Given the description of an element on the screen output the (x, y) to click on. 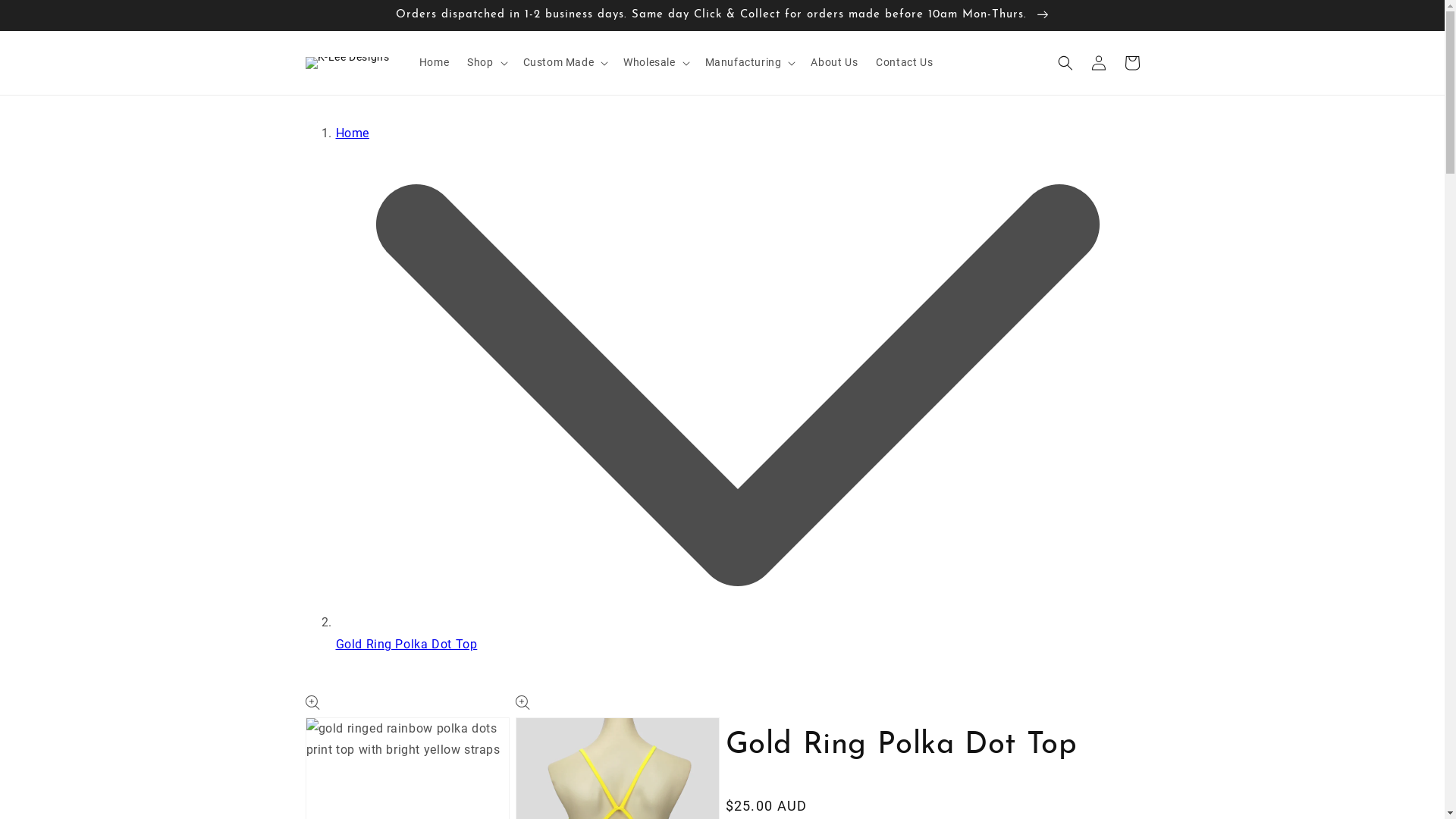
Home Element type: text (434, 62)
Log in Element type: text (1097, 61)
Home Element type: text (351, 132)
Gold Ring Polka Dot Top Element type: text (405, 644)
Contact Us Element type: text (903, 62)
Cart Element type: text (1131, 61)
Skip to product information Element type: text (350, 712)
About Us Element type: text (833, 62)
